Given the description of an element on the screen output the (x, y) to click on. 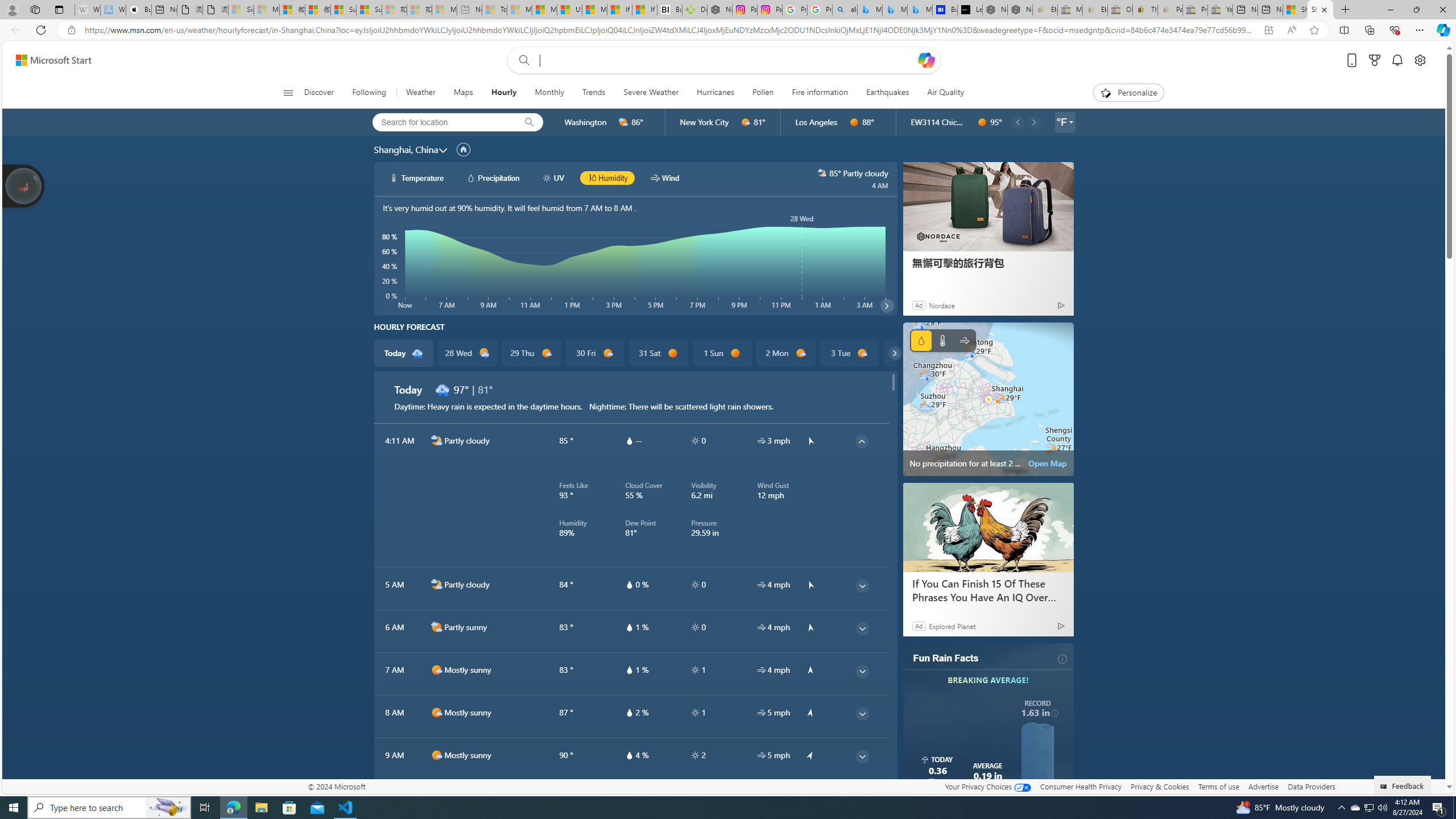
28 Wed d2100 (466, 352)
hourlyTable/wind (761, 755)
App available. Install Microsoft Start Weather (1268, 29)
Class: miniMapRadarSVGView-DS-EntryPoint1-1 (988, 398)
Explored Planet (951, 625)
Trends (593, 92)
Microsoft Services Agreement - Sleeping (265, 9)
Hourly (503, 92)
Fun Rain Facts (945, 658)
static map image of vector map (988, 398)
